Given the description of an element on the screen output the (x, y) to click on. 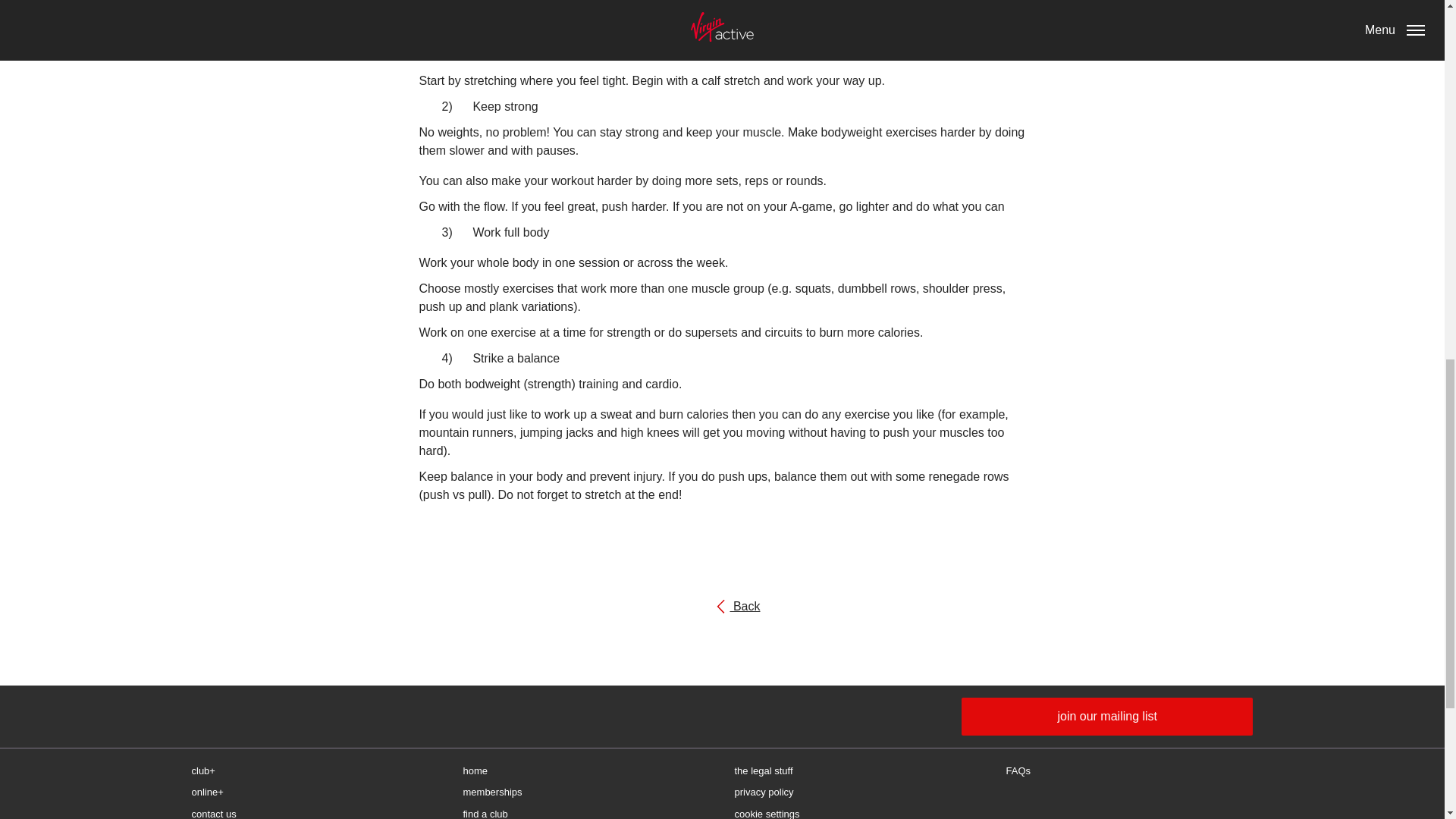
the legal stuff (722, 605)
privacy policy (857, 771)
cookie settings (857, 792)
find a club (857, 811)
memberships (586, 811)
home (586, 792)
join our mailing list (586, 771)
contact us (1106, 716)
